Given the description of an element on the screen output the (x, y) to click on. 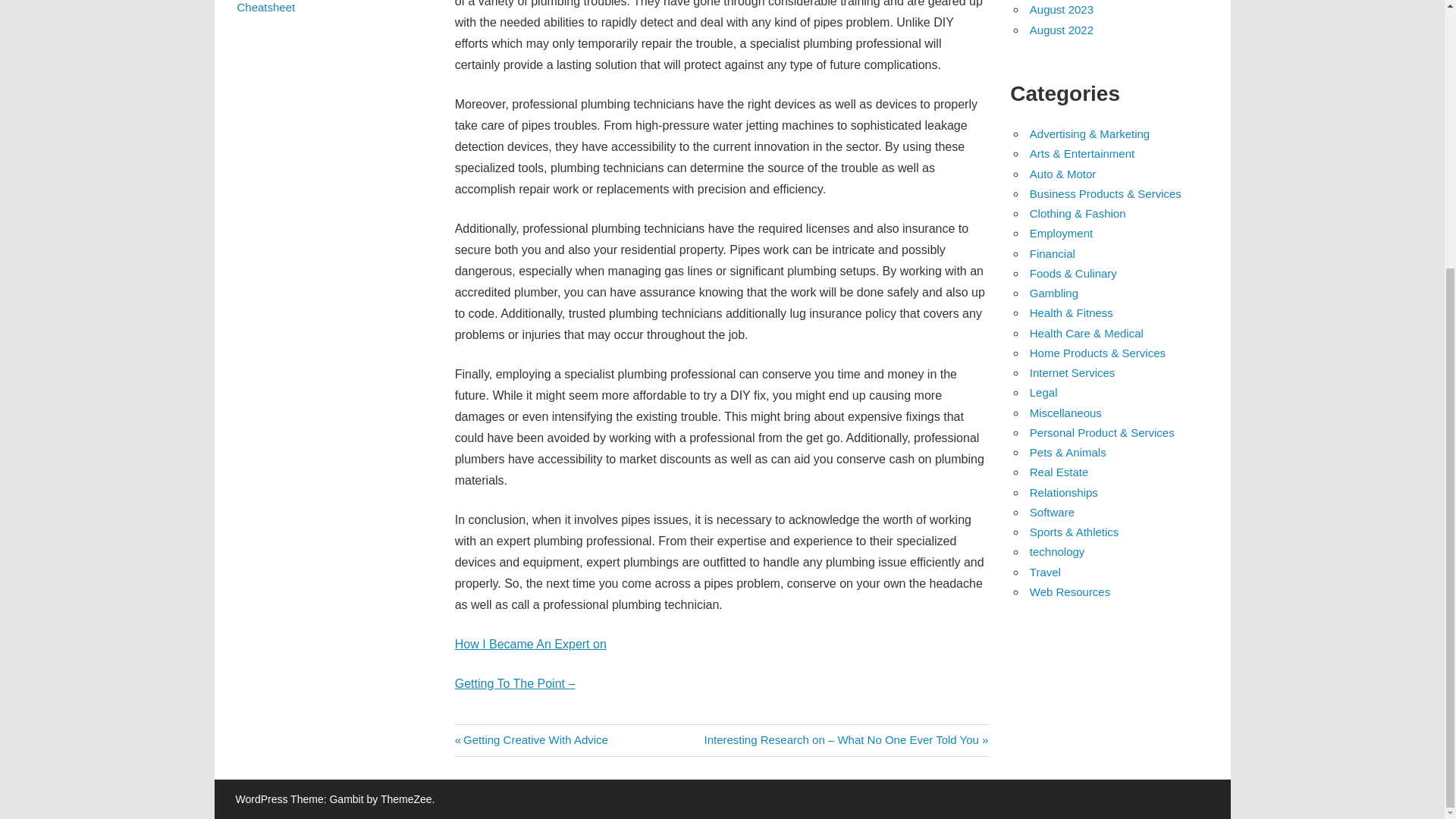
Financial (531, 739)
August 2022 (1052, 253)
Gambling (1061, 29)
August 2023 (1053, 292)
Employment (1061, 9)
How I Became An Expert on (1061, 232)
